Given the description of an element on the screen output the (x, y) to click on. 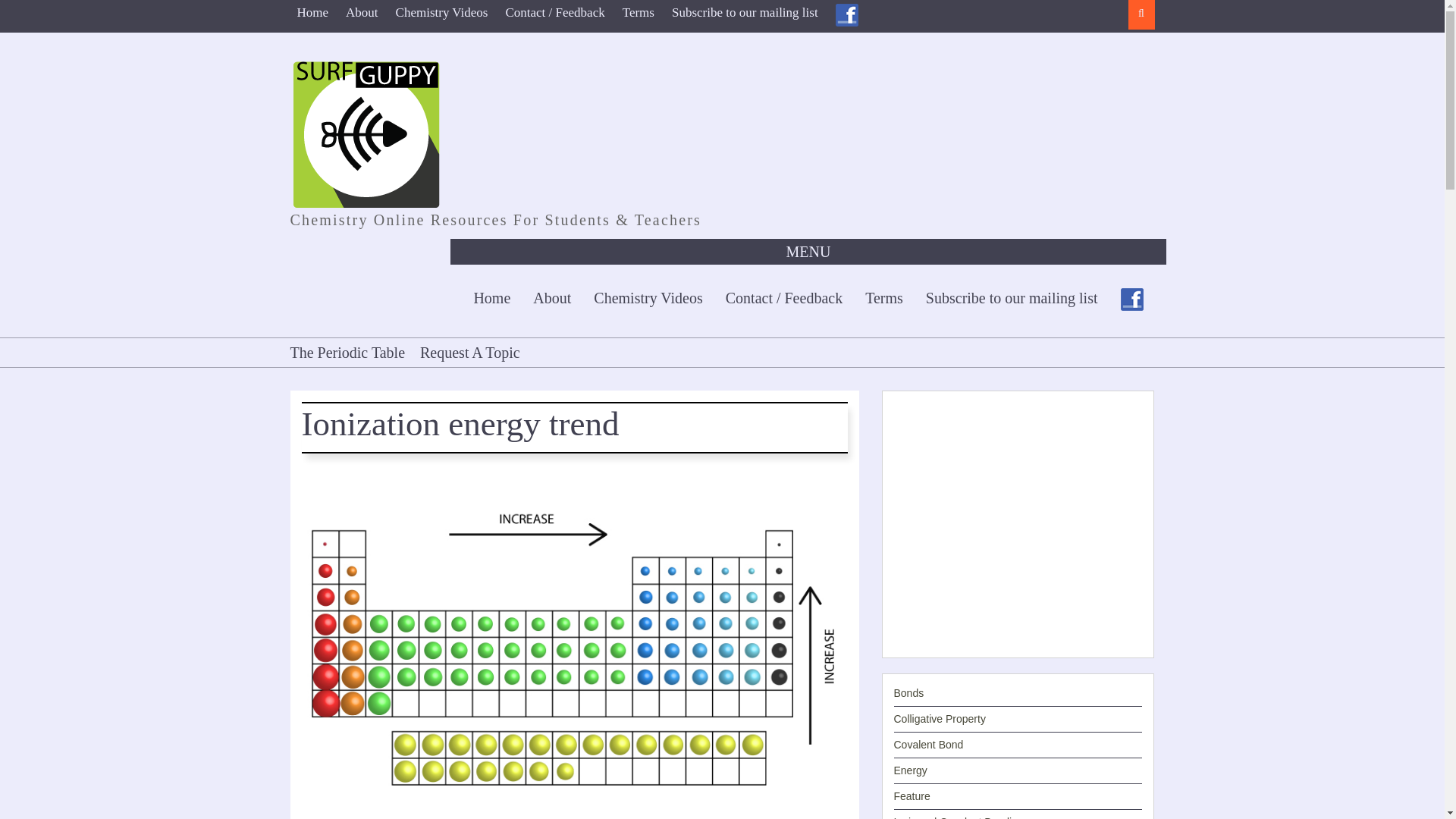
Chemistry Videos (647, 298)
Subscribe to our mailing list (744, 11)
Chemistry Videos (441, 11)
YouTube video player (1017, 521)
Terms (883, 298)
Request A Topic (469, 352)
Home (491, 298)
About (362, 11)
Terms (638, 11)
The Periodic Table (350, 352)
Search (1141, 14)
Subscribe to our mailing list (1011, 298)
About (551, 298)
Home (313, 11)
